Given the description of an element on the screen output the (x, y) to click on. 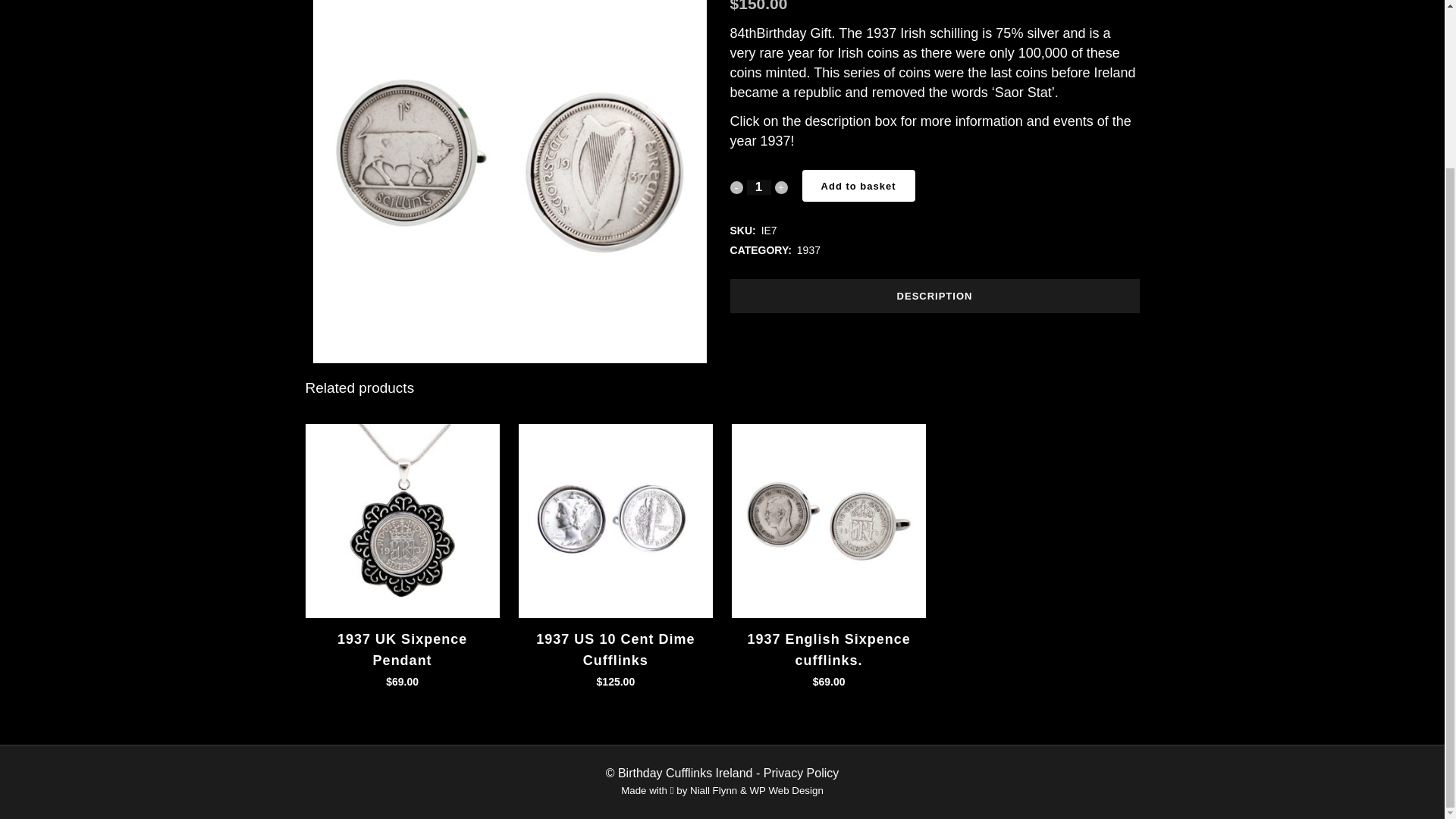
Privacy Policy (801, 772)
1937 (808, 250)
1 (758, 186)
Add to basket (858, 185)
- (736, 187)
Qty (758, 186)
WP Web Design (786, 790)
Niall Flynn (713, 790)
